Given the description of an element on the screen output the (x, y) to click on. 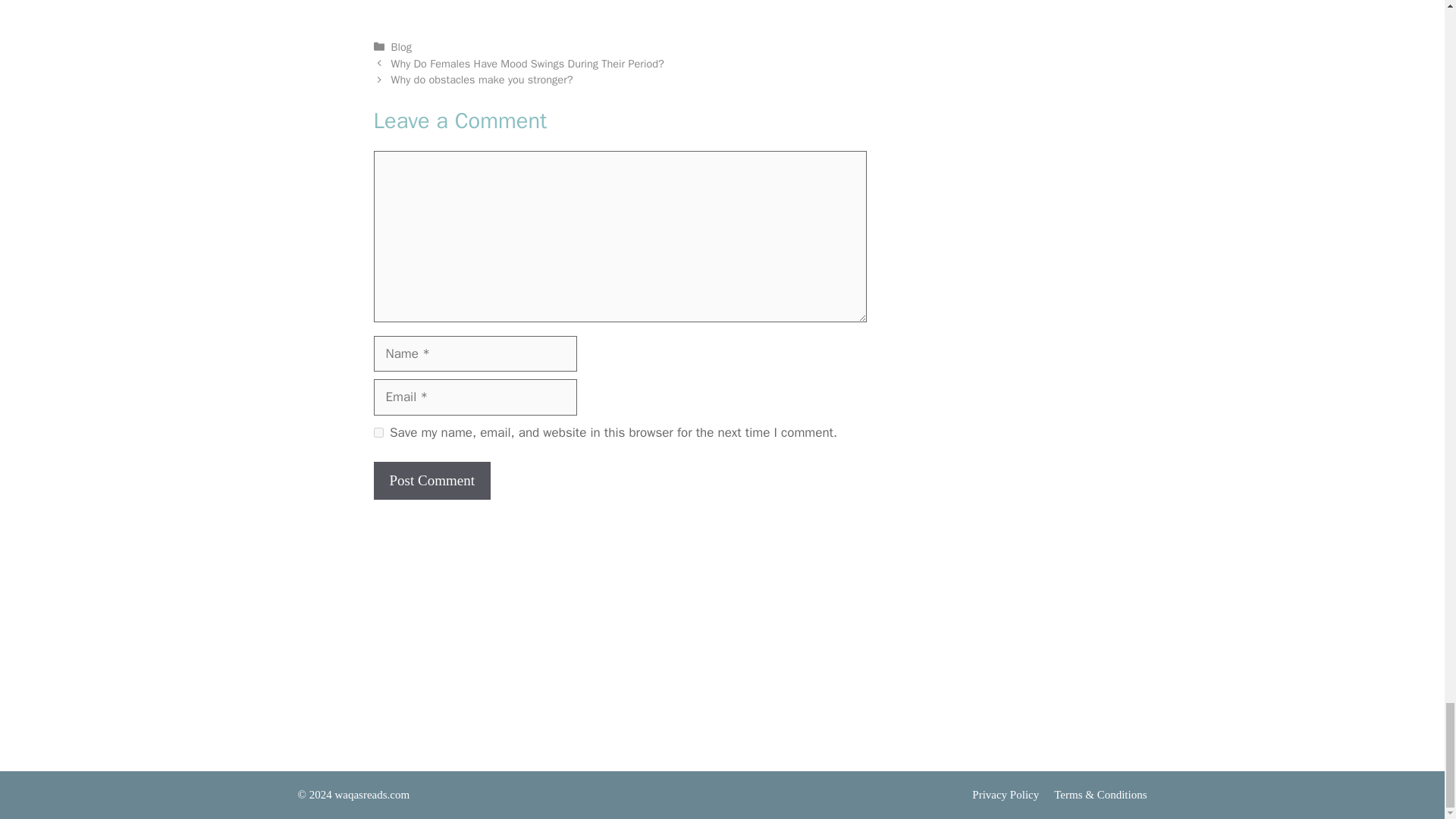
Blog (401, 47)
yes (377, 432)
Privacy Policy (1005, 794)
Why do obstacles make you stronger? (482, 79)
Post Comment (430, 480)
Post Comment (430, 480)
Why Do Females Have Mood Swings During Their Period? (527, 63)
